Given the description of an element on the screen output the (x, y) to click on. 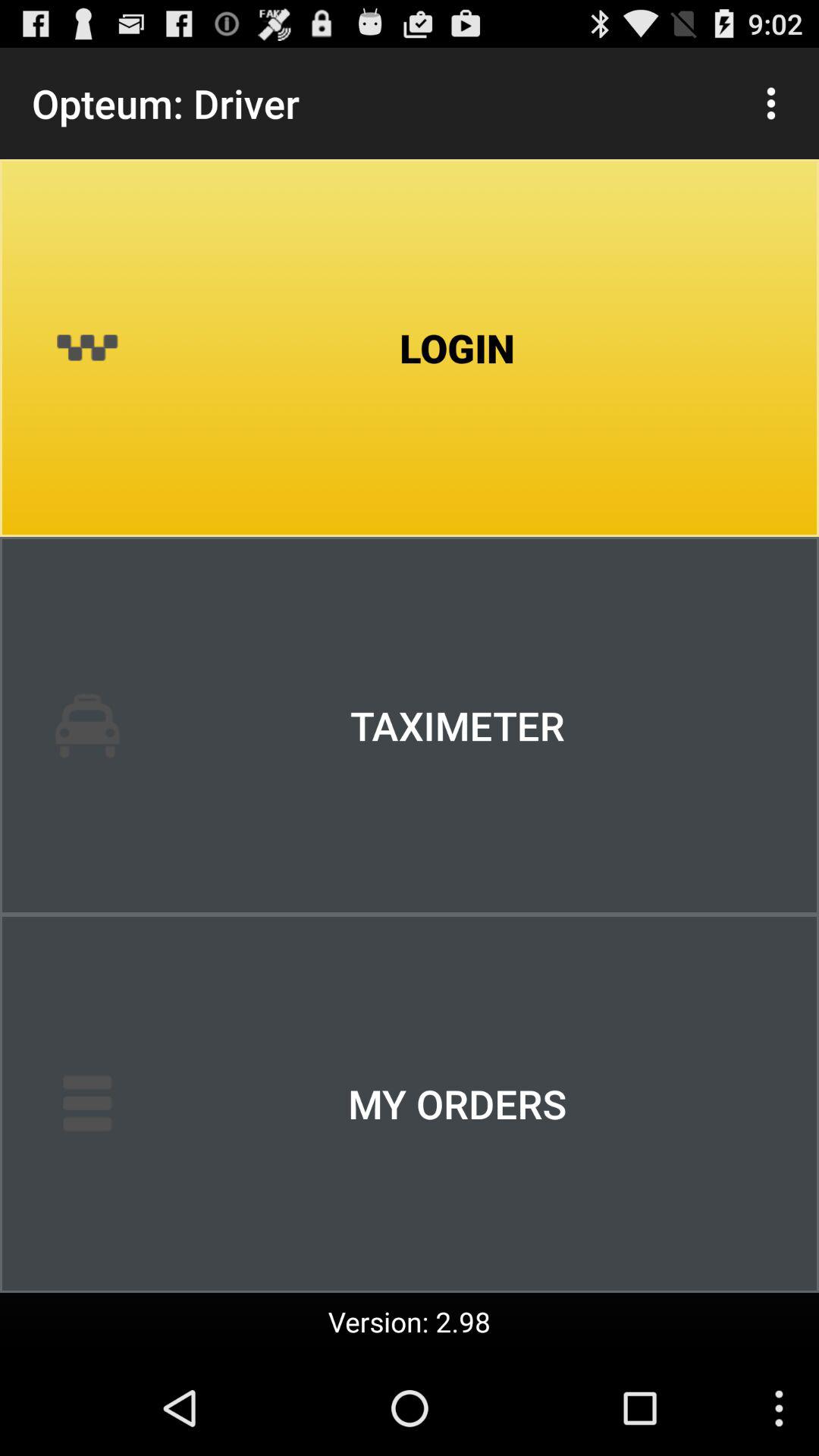
scroll to the taximeter icon (409, 725)
